Given the description of an element on the screen output the (x, y) to click on. 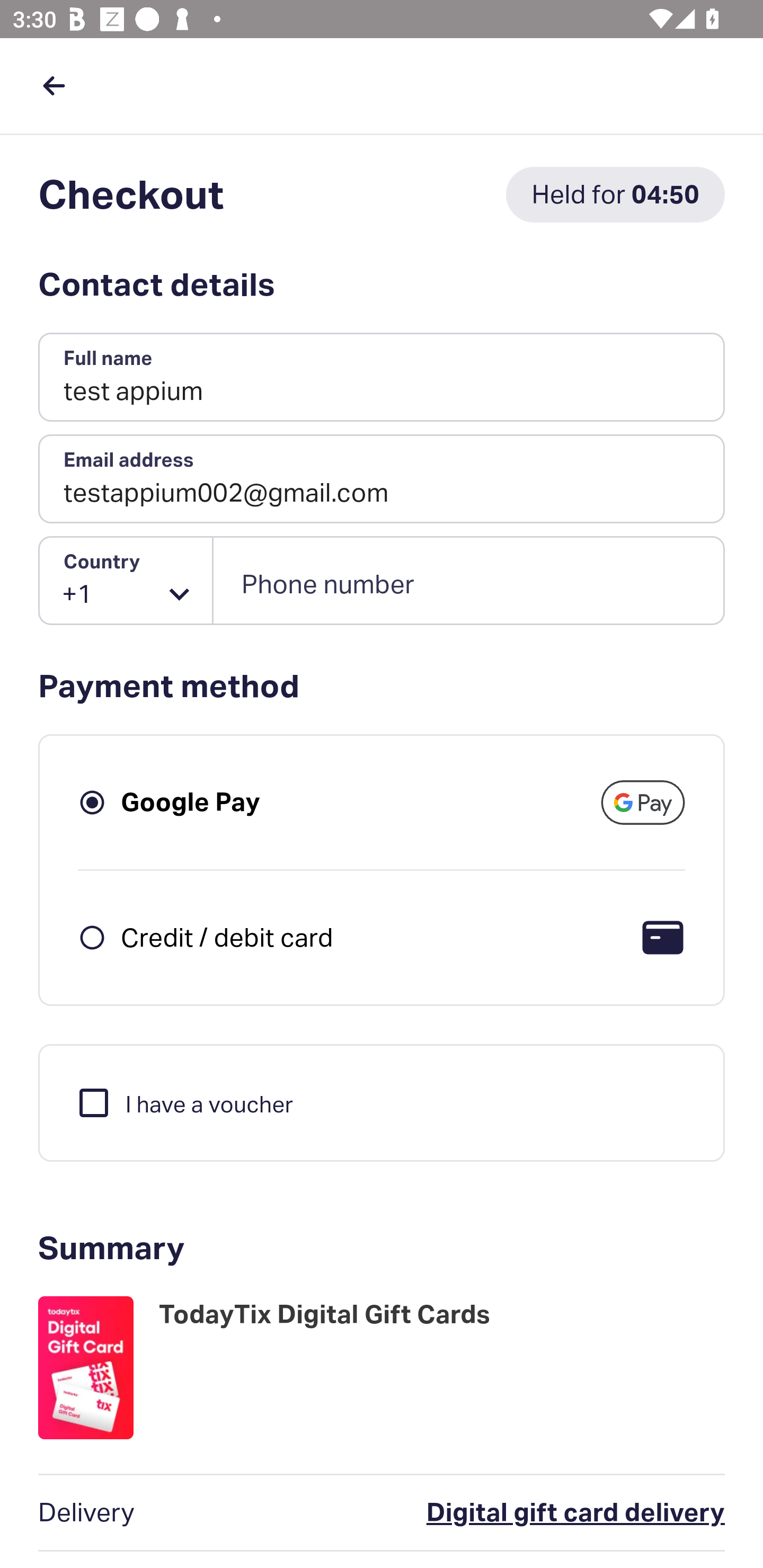
back button (53, 85)
test appium (381, 377)
testappium002@gmail.com (381, 478)
  +1 (126, 580)
Google Pay (190, 802)
Credit / debit card (227, 936)
I have a voucher (183, 1101)
Digital gift card delivery (495, 1512)
